Given the description of an element on the screen output the (x, y) to click on. 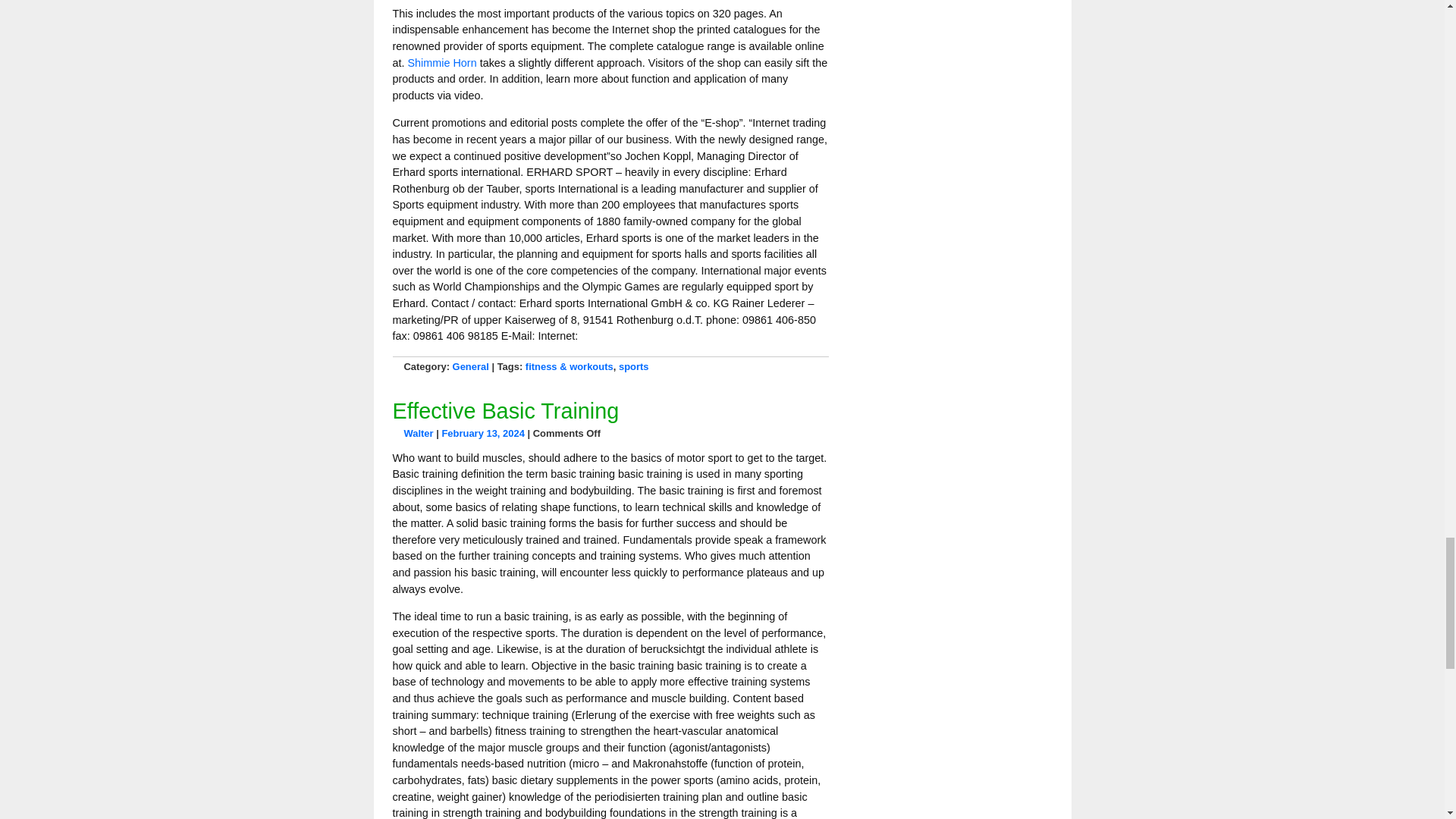
Shimmie Horn (442, 62)
Posts by Walter (417, 432)
